Given the description of an element on the screen output the (x, y) to click on. 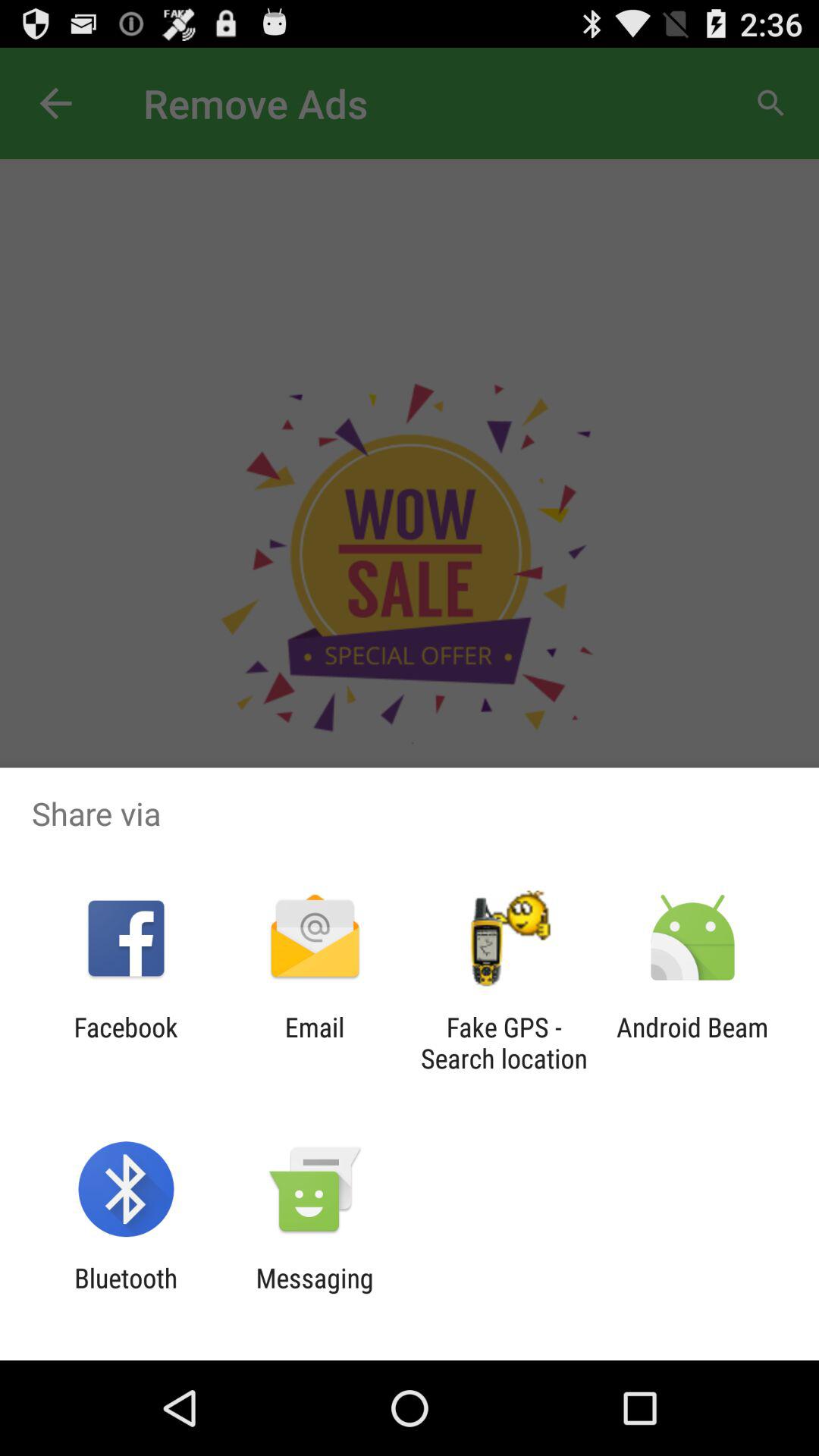
turn off the app next to the fake gps search item (314, 1042)
